Given the description of an element on the screen output the (x, y) to click on. 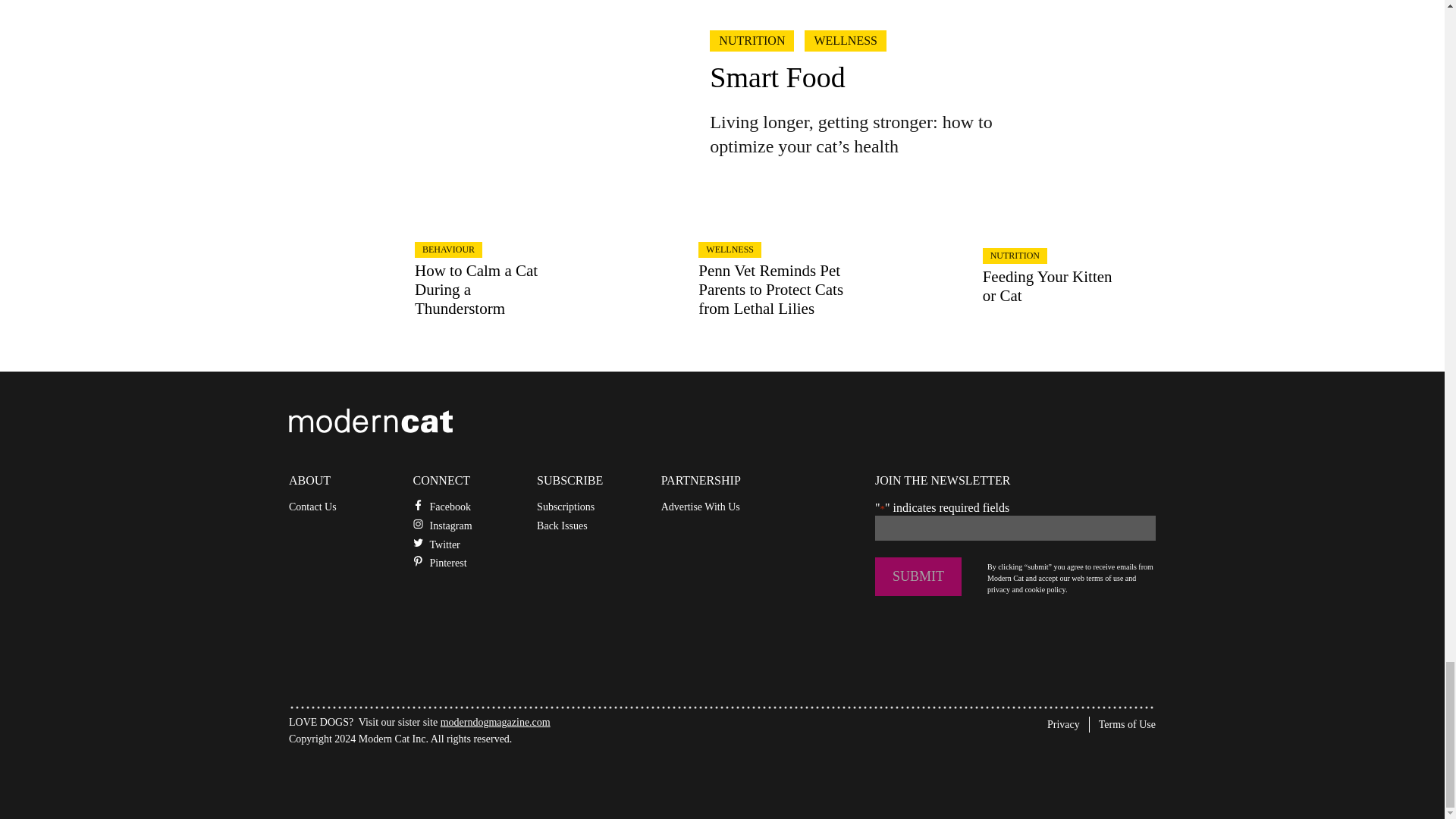
Submit (917, 576)
Funded by the Government of Canada (402, 775)
